Given the description of an element on the screen output the (x, y) to click on. 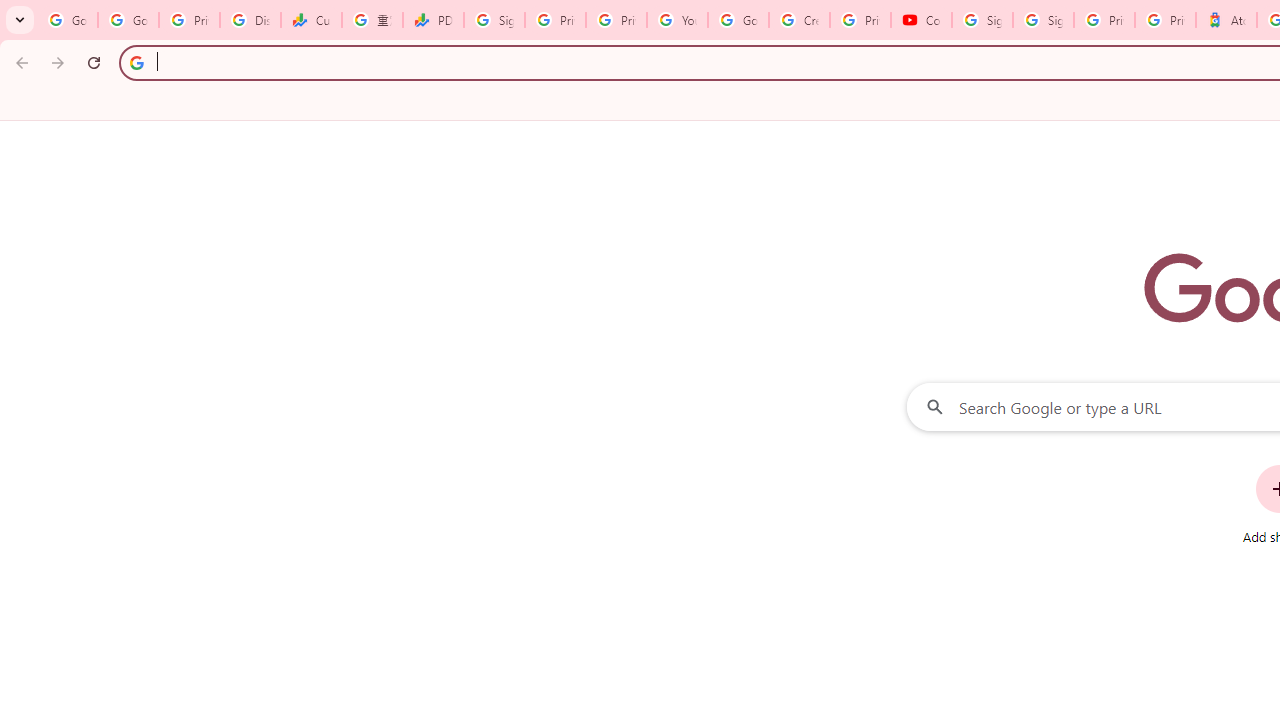
Currencies - Google Finance (310, 20)
Privacy Checkup (616, 20)
Atour Hotel - Google hotels (1225, 20)
PDD Holdings Inc - ADR (PDD) Price & News - Google Finance (433, 20)
Content Creator Programs & Opportunities - YouTube Creators (921, 20)
